Given the description of an element on the screen output the (x, y) to click on. 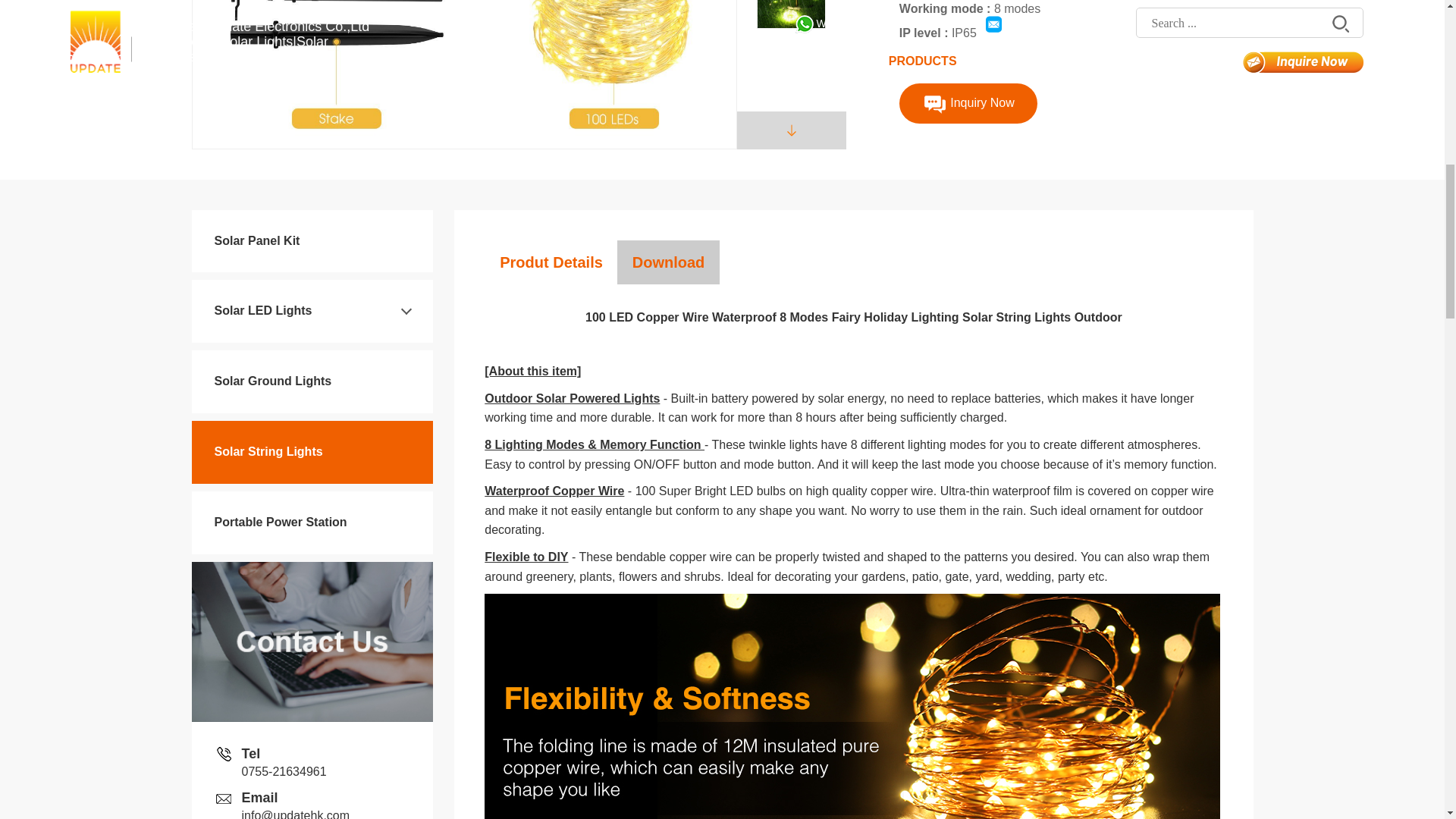
Solar Panel Kit (256, 240)
Solar LED Lights (262, 309)
Inquiry Now (967, 103)
Inquiry Now (967, 102)
